Given the description of an element on the screen output the (x, y) to click on. 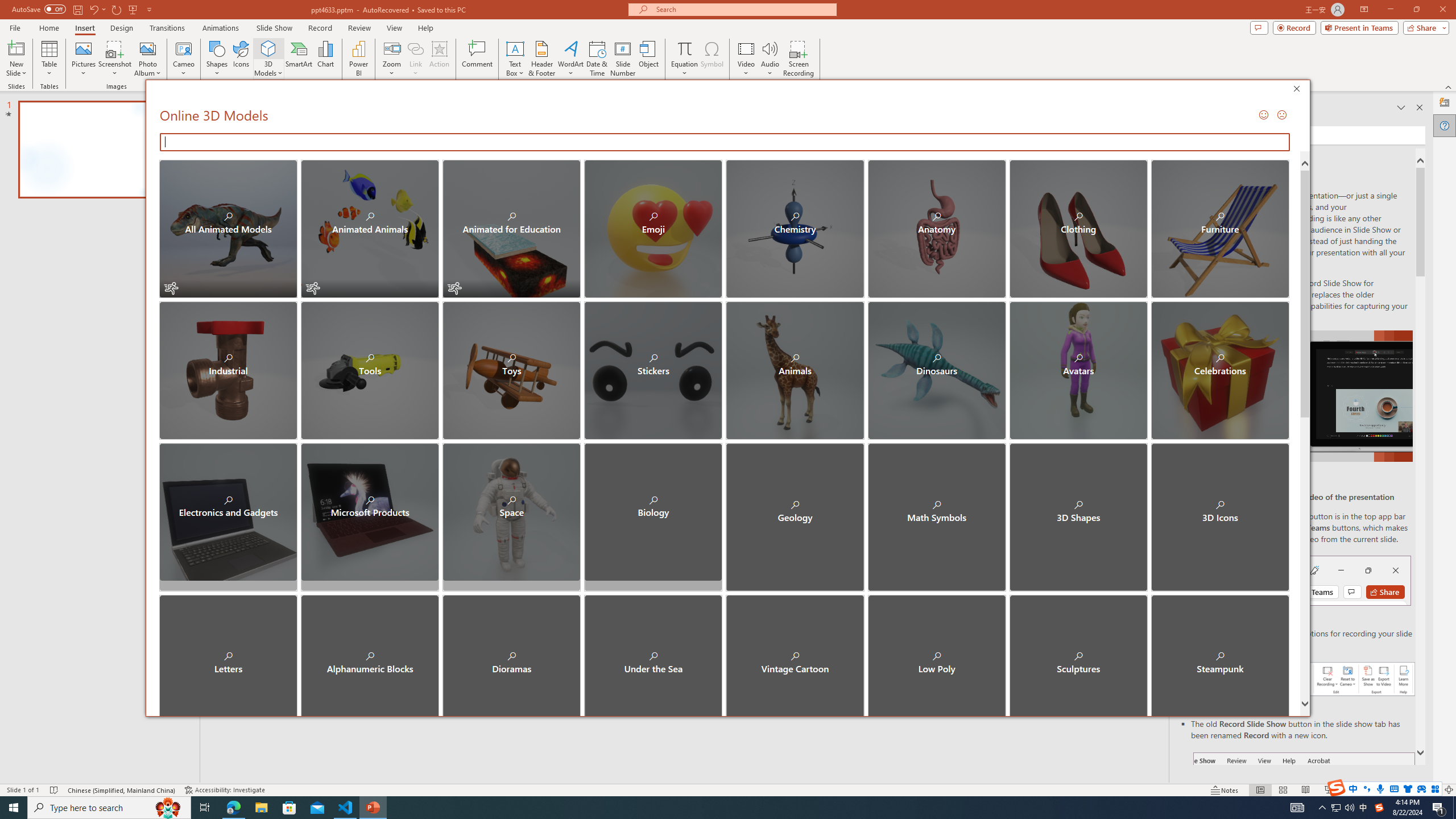
Dioramas (510, 653)
Alphanumeric Blocks (369, 653)
Dinosaurs (936, 370)
Video (745, 58)
Sculptures (1078, 653)
Animals (794, 370)
3D Models (268, 48)
